Given the description of an element on the screen output the (x, y) to click on. 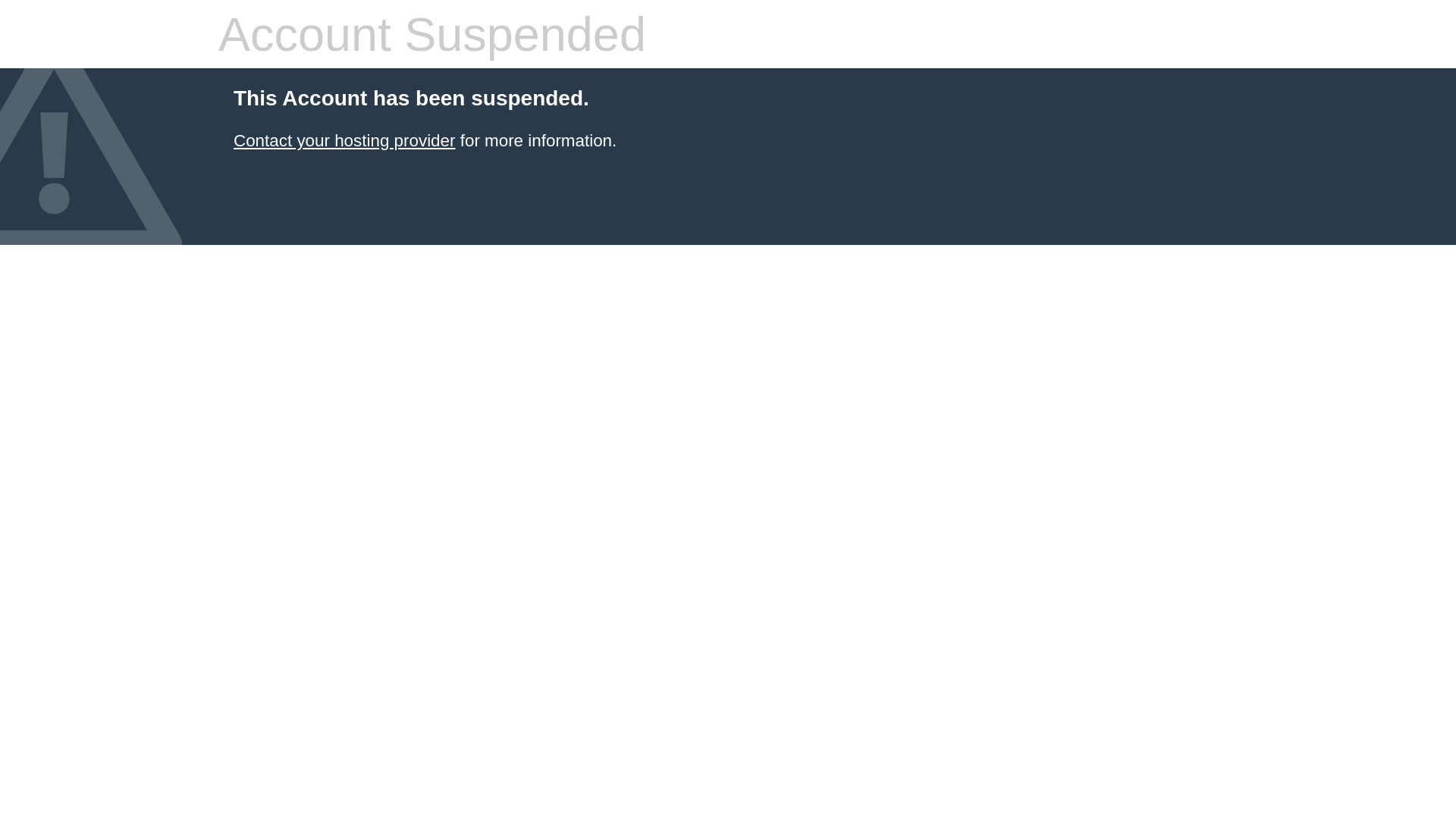
Contact your hosting provider Element type: text (344, 140)
